Given the description of an element on the screen output the (x, y) to click on. 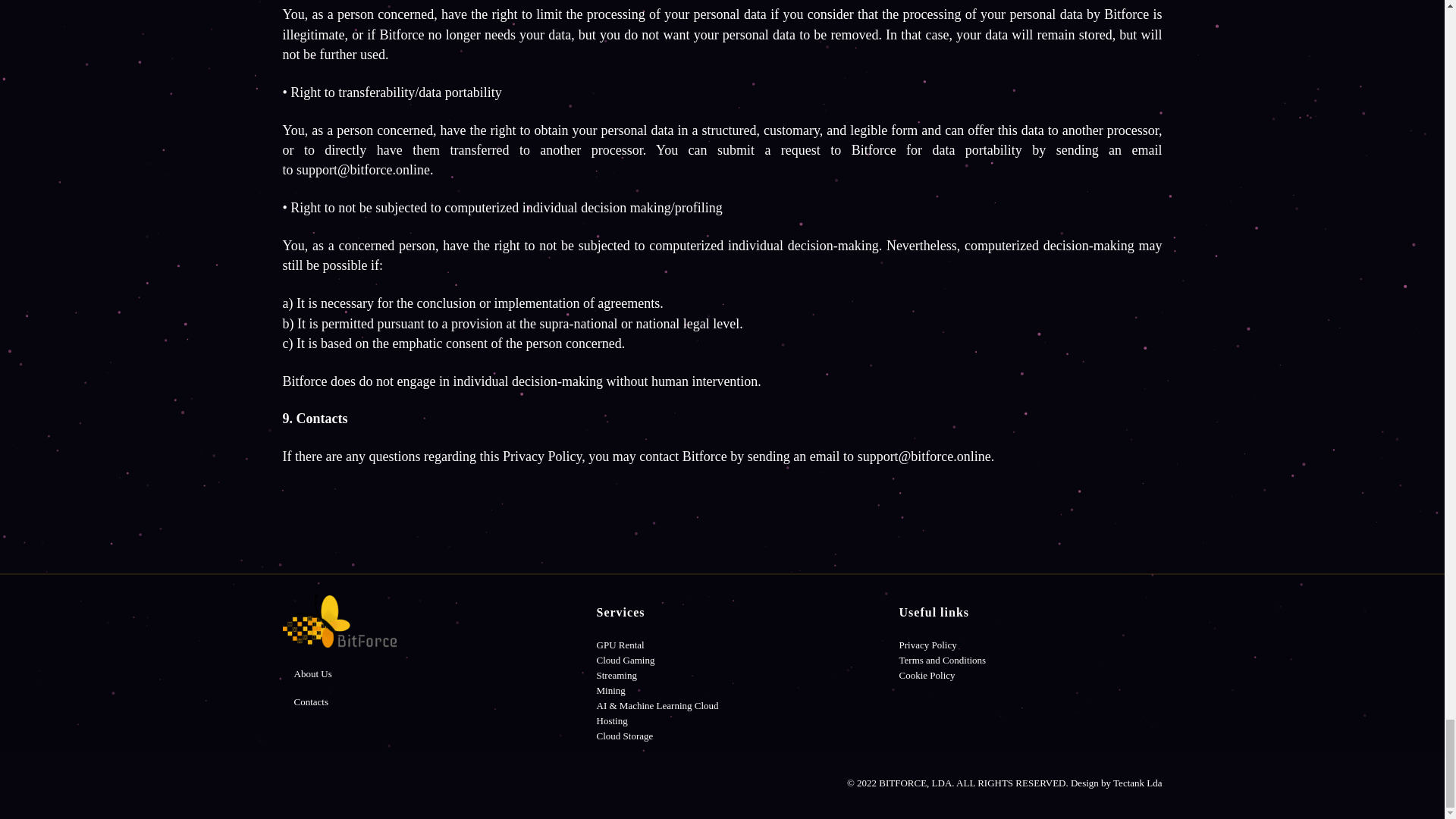
Mining (611, 690)
Cloud Storage (624, 736)
Hosting (611, 720)
Contacts (311, 701)
Terms and Conditions (943, 659)
bitforce-logo (339, 620)
Streaming (616, 674)
Cloud Gaming (625, 659)
GPU Rental (620, 644)
Privacy Policy (927, 644)
